Given the description of an element on the screen output the (x, y) to click on. 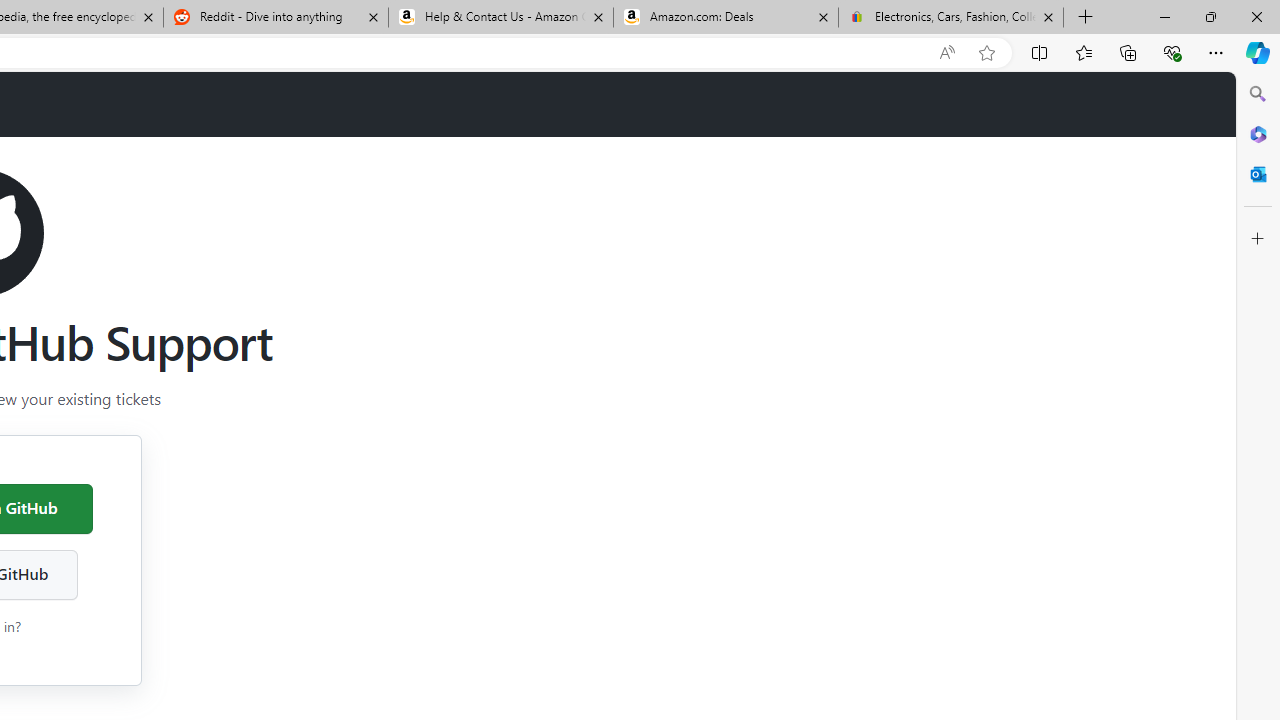
Amazon.com: Deals (726, 17)
